Given the description of an element on the screen output the (x, y) to click on. 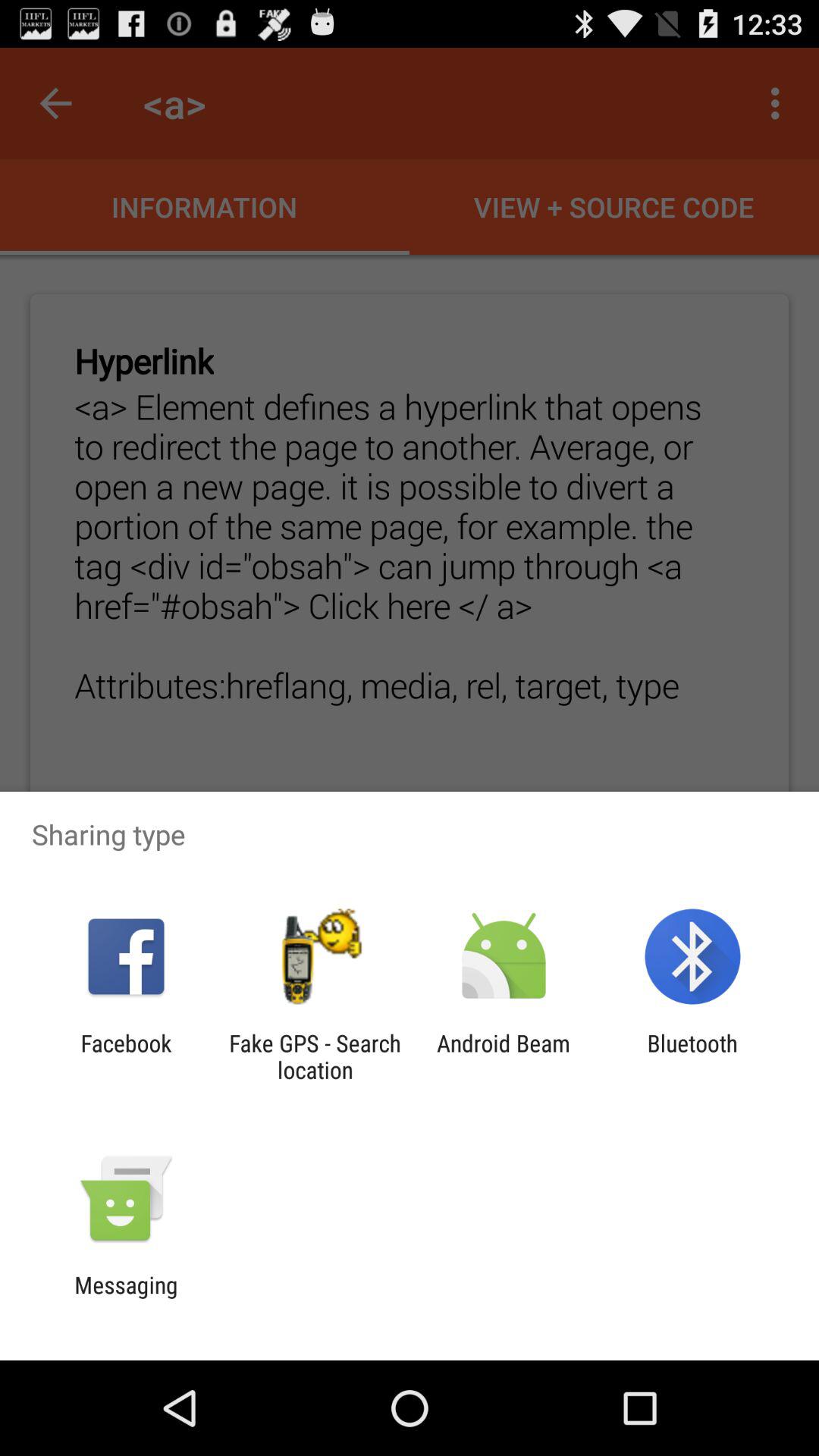
launch app next to the android beam icon (692, 1056)
